Given the description of an element on the screen output the (x, y) to click on. 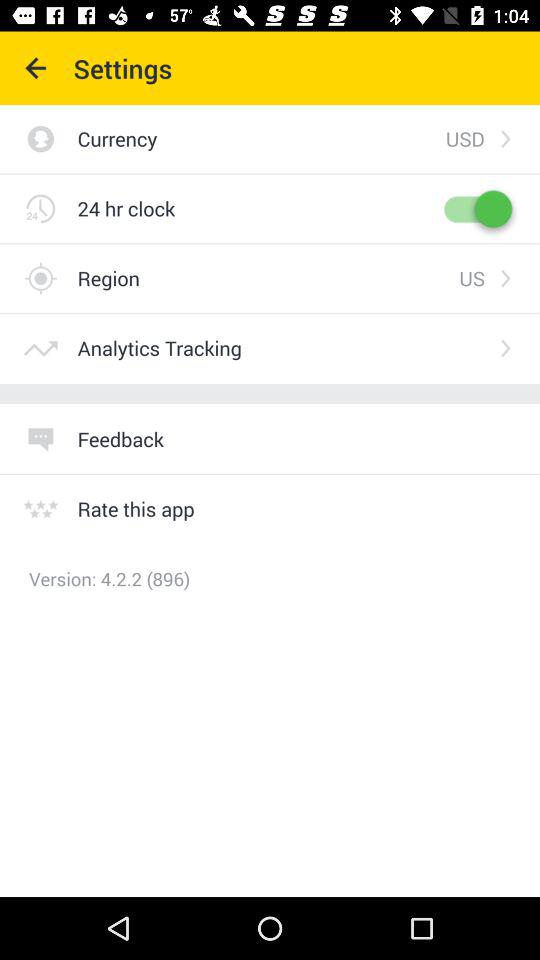
launch the item next to the region icon (471, 278)
